Given the description of an element on the screen output the (x, y) to click on. 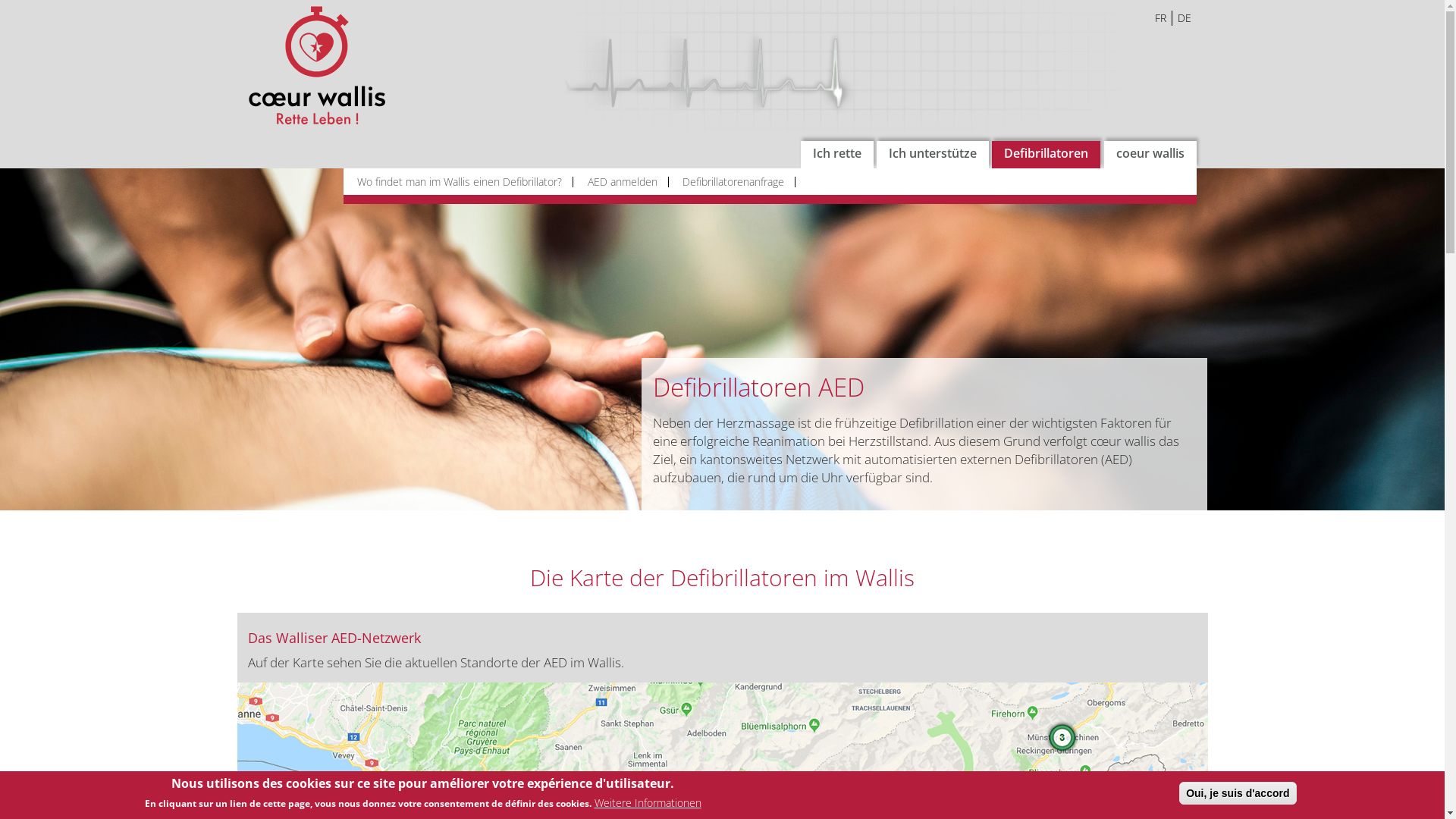
Defibrillatoren Element type: text (1045, 154)
Oui, je suis d'accord Element type: text (1237, 792)
Weitere Informationen Element type: text (647, 802)
Ich rette Element type: text (836, 154)
Defibrillatorenanfrage Element type: text (735, 181)
Startseite Element type: hover (322, 65)
coeur wallis Element type: text (1150, 154)
AED anmelden Element type: text (624, 181)
Wo findet man im Wallis einen Defibrillator? Element type: text (462, 181)
Direkt zum Inhalt Element type: text (0, 0)
DE Element type: text (1184, 17)
FR Element type: text (1160, 17)
